Given the description of an element on the screen output the (x, y) to click on. 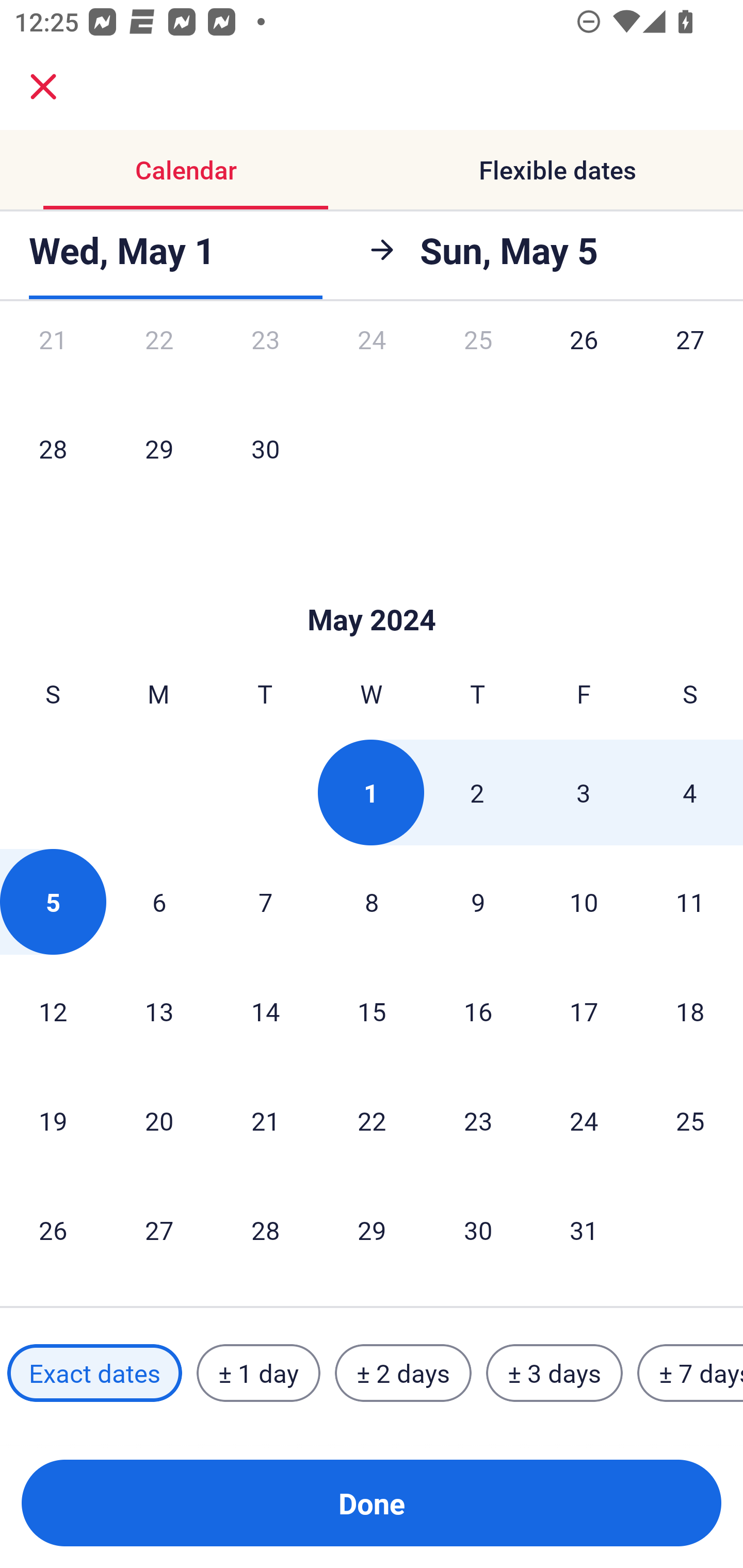
close. (43, 86)
Flexible dates (557, 170)
21 Sunday, April 21, 2024 (53, 361)
22 Monday, April 22, 2024 (159, 361)
23 Tuesday, April 23, 2024 (265, 361)
24 Wednesday, April 24, 2024 (371, 361)
25 Thursday, April 25, 2024 (477, 361)
26 Friday, April 26, 2024 (584, 361)
27 Saturday, April 27, 2024 (690, 361)
28 Sunday, April 28, 2024 (53, 448)
29 Monday, April 29, 2024 (159, 448)
30 Tuesday, April 30, 2024 (265, 448)
Skip to Done (371, 588)
6 Monday, May 6, 2024 (159, 901)
7 Tuesday, May 7, 2024 (265, 901)
8 Wednesday, May 8, 2024 (371, 901)
9 Thursday, May 9, 2024 (477, 901)
10 Friday, May 10, 2024 (584, 901)
11 Saturday, May 11, 2024 (690, 901)
12 Sunday, May 12, 2024 (53, 1011)
13 Monday, May 13, 2024 (159, 1011)
14 Tuesday, May 14, 2024 (265, 1011)
15 Wednesday, May 15, 2024 (371, 1011)
16 Thursday, May 16, 2024 (477, 1011)
17 Friday, May 17, 2024 (584, 1011)
18 Saturday, May 18, 2024 (690, 1011)
19 Sunday, May 19, 2024 (53, 1119)
20 Monday, May 20, 2024 (159, 1119)
21 Tuesday, May 21, 2024 (265, 1119)
22 Wednesday, May 22, 2024 (371, 1119)
23 Thursday, May 23, 2024 (477, 1119)
24 Friday, May 24, 2024 (584, 1119)
25 Saturday, May 25, 2024 (690, 1119)
26 Sunday, May 26, 2024 (53, 1229)
27 Monday, May 27, 2024 (159, 1229)
28 Tuesday, May 28, 2024 (265, 1229)
29 Wednesday, May 29, 2024 (371, 1229)
30 Thursday, May 30, 2024 (477, 1229)
31 Friday, May 31, 2024 (584, 1229)
Exact dates (94, 1372)
± 1 day (258, 1372)
± 2 days (403, 1372)
± 3 days (553, 1372)
± 7 days (690, 1372)
Done (371, 1502)
